Given the description of an element on the screen output the (x, y) to click on. 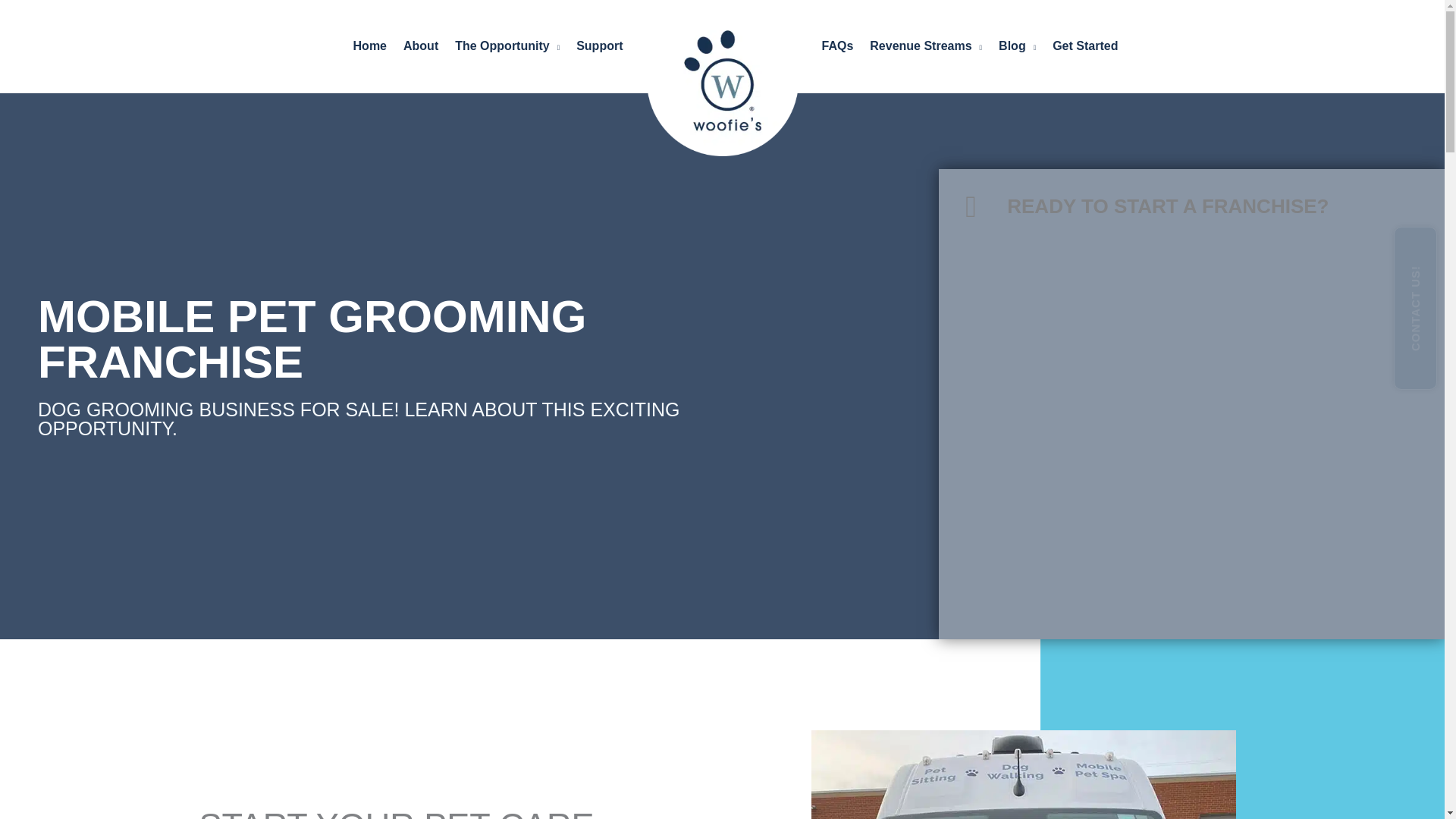
Support (598, 46)
Get Started (1084, 46)
Revenue Streams (925, 46)
Blog (1016, 46)
About (420, 46)
FAQs (836, 46)
Home (369, 46)
The Opportunity (506, 46)
